Given the description of an element on the screen output the (x, y) to click on. 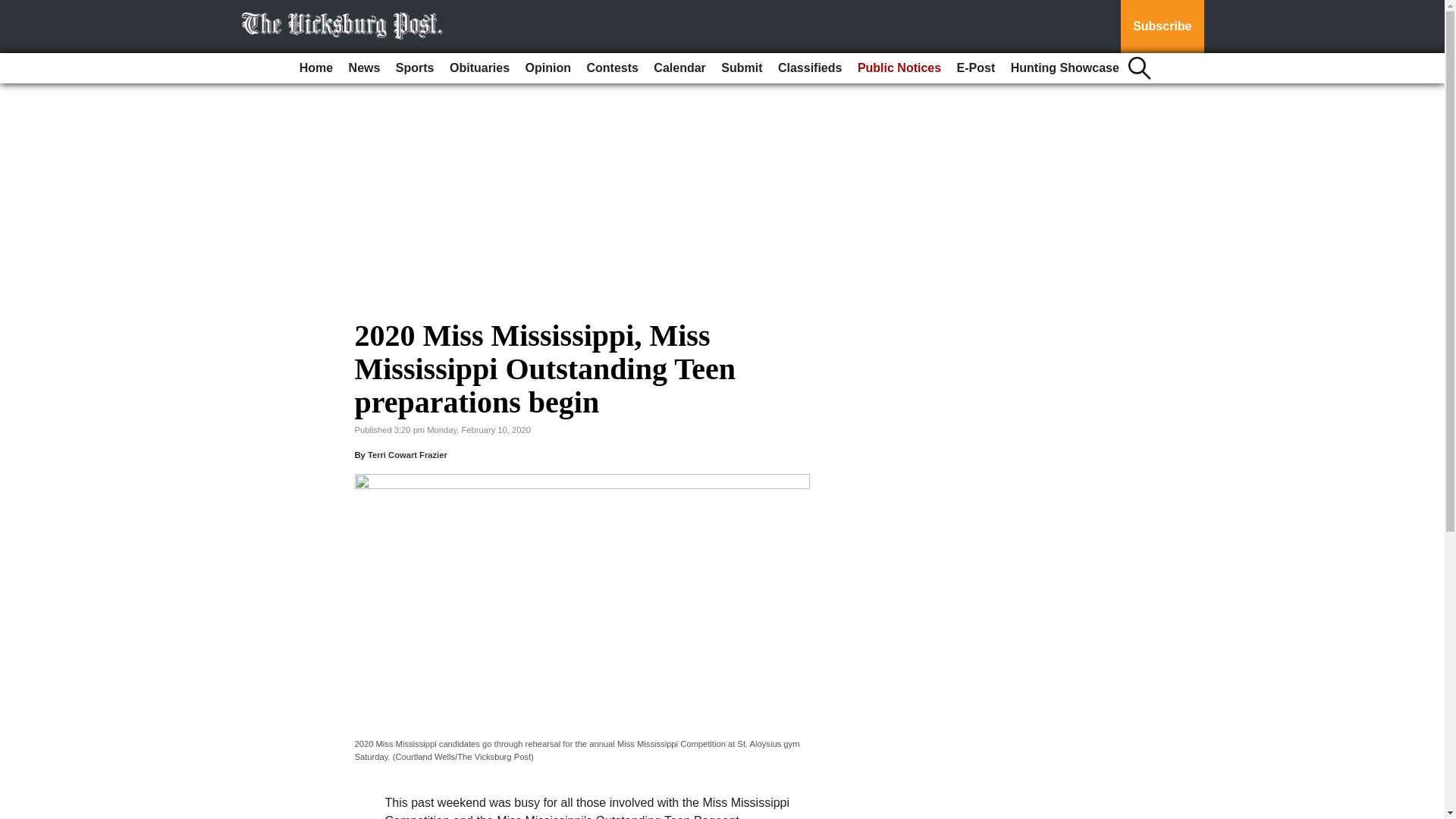
Classifieds (809, 68)
Go (13, 9)
Terri Cowart Frazier (407, 454)
Home (316, 68)
News (364, 68)
Opinion (547, 68)
Obituaries (479, 68)
Calendar (679, 68)
E-Post (975, 68)
Public Notices (899, 68)
